Given the description of an element on the screen output the (x, y) to click on. 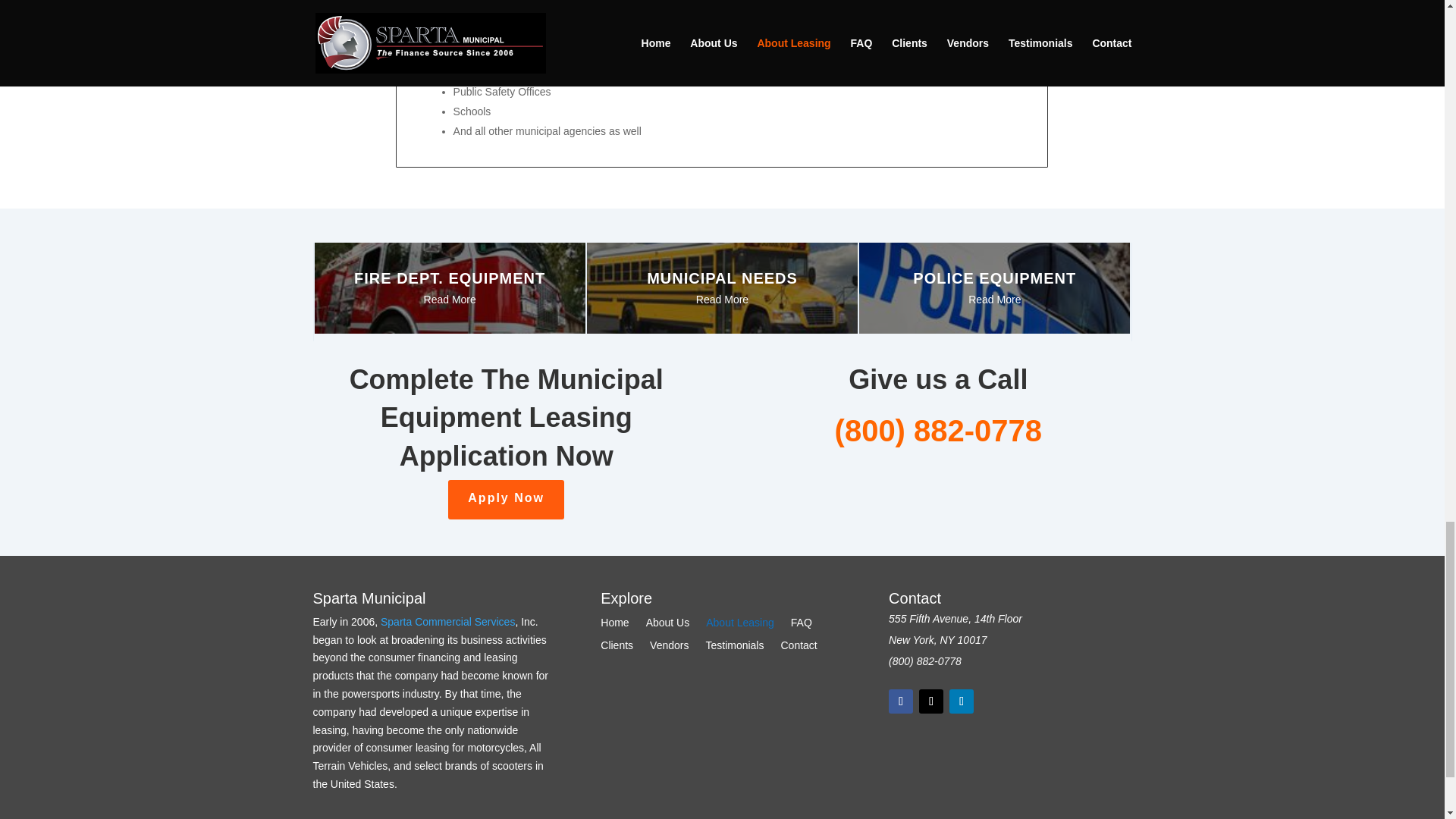
Contact (798, 647)
Testimonials (733, 647)
FAQ (801, 625)
Follow on LinkedIn (961, 701)
Home (613, 625)
About Us (668, 625)
About Leasing (740, 625)
Follow on Facebook (900, 701)
Follow on X (930, 701)
Vendors (668, 647)
Clients (616, 647)
Sparta Commercial Services (447, 621)
Apply Now (506, 499)
